Given the description of an element on the screen output the (x, y) to click on. 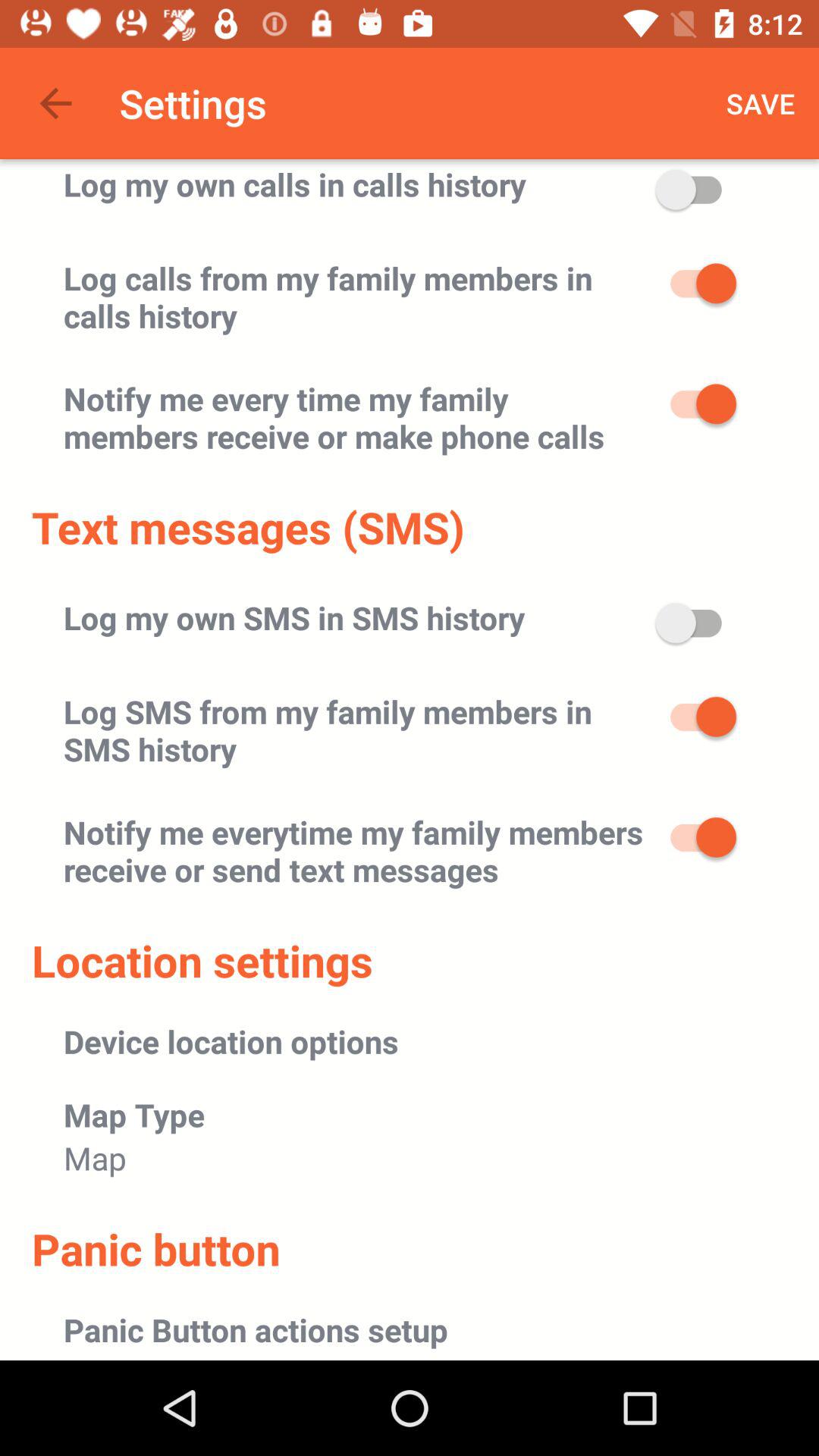
turn off app next to settings (55, 103)
